Given the description of an element on the screen output the (x, y) to click on. 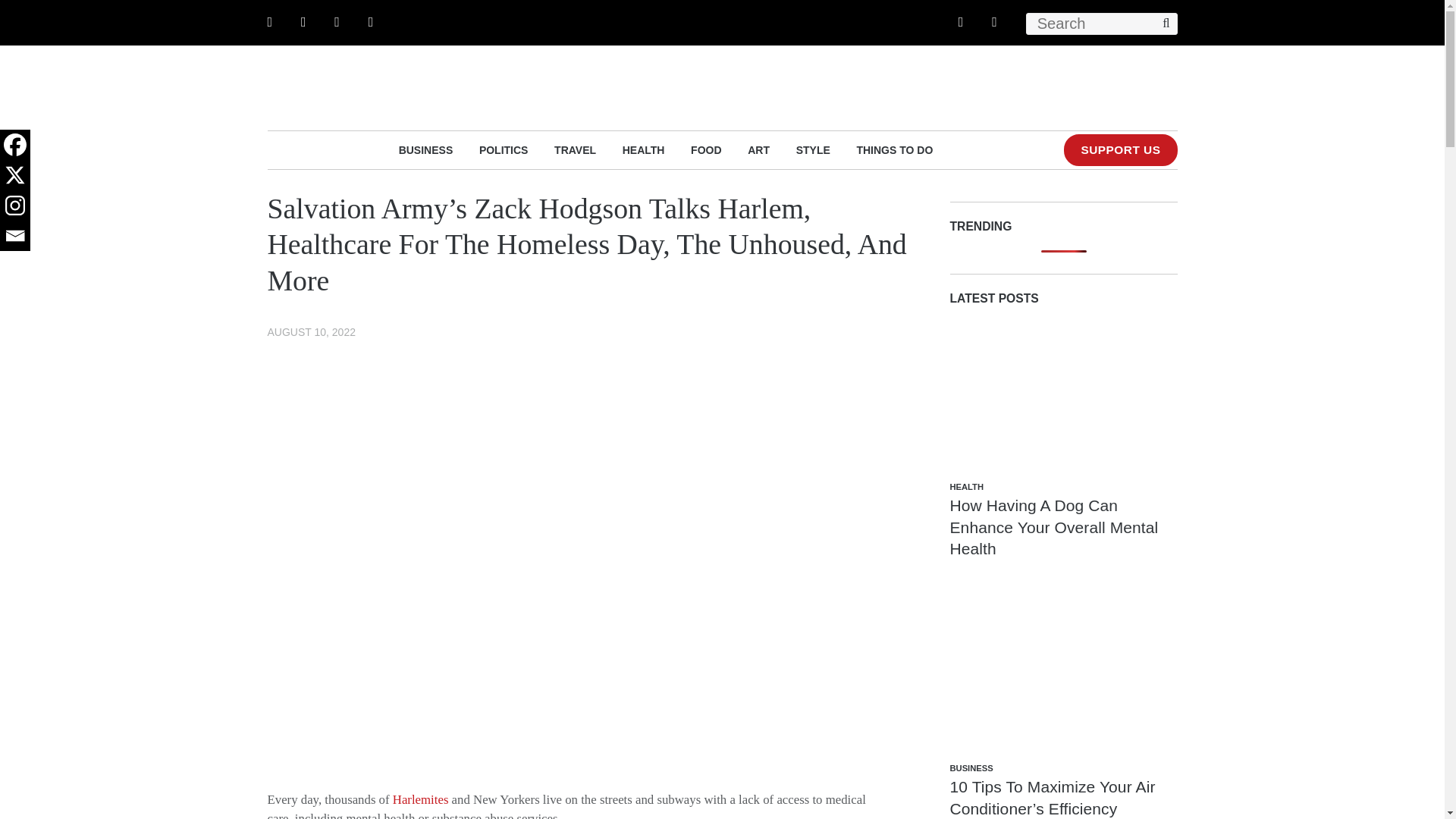
SUPPORT US (1120, 150)
THINGS TO DO (894, 149)
POLITICS (503, 149)
HEALTH (644, 149)
BUSINESS (425, 149)
Email (15, 235)
Facebook (15, 144)
Harlemites (420, 798)
STYLE (812, 149)
Instagram (15, 205)
